Given the description of an element on the screen output the (x, y) to click on. 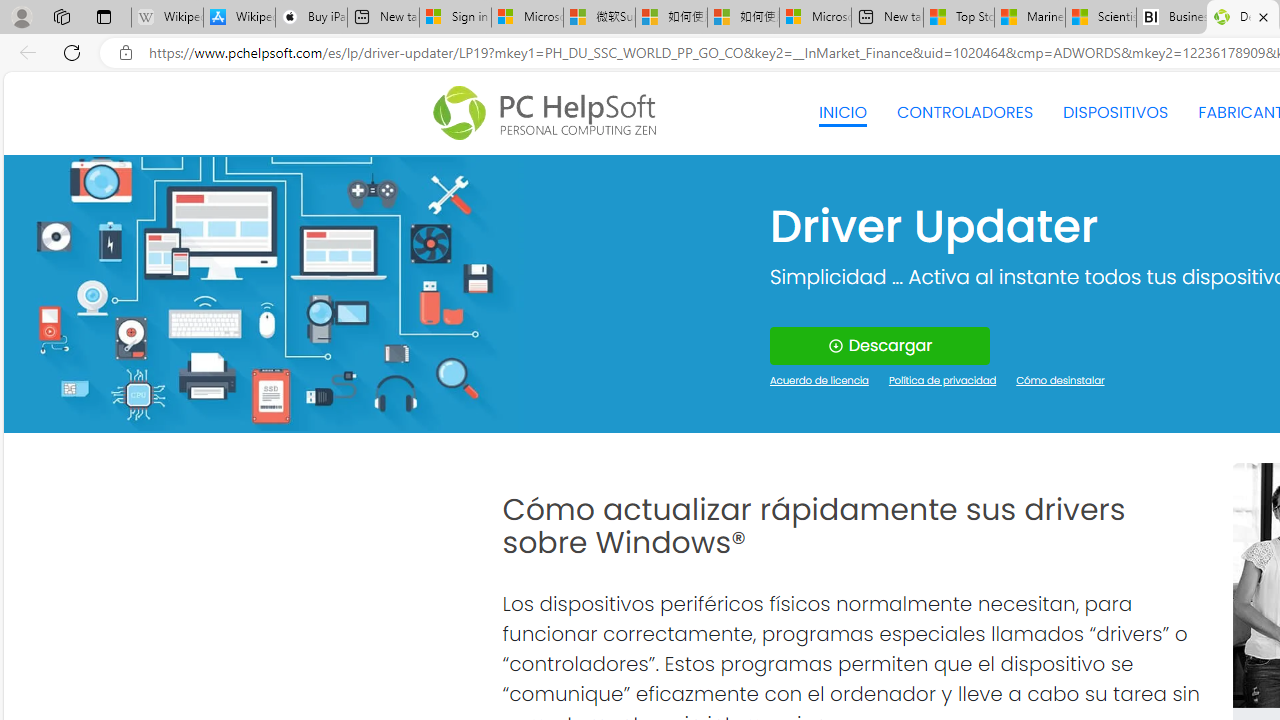
Logo Personal Computing (550, 113)
DISPOSITIVOS (1115, 112)
Download Icon (834, 345)
DISPOSITIVOS (1115, 112)
INICIO (842, 112)
